Given the description of an element on the screen output the (x, y) to click on. 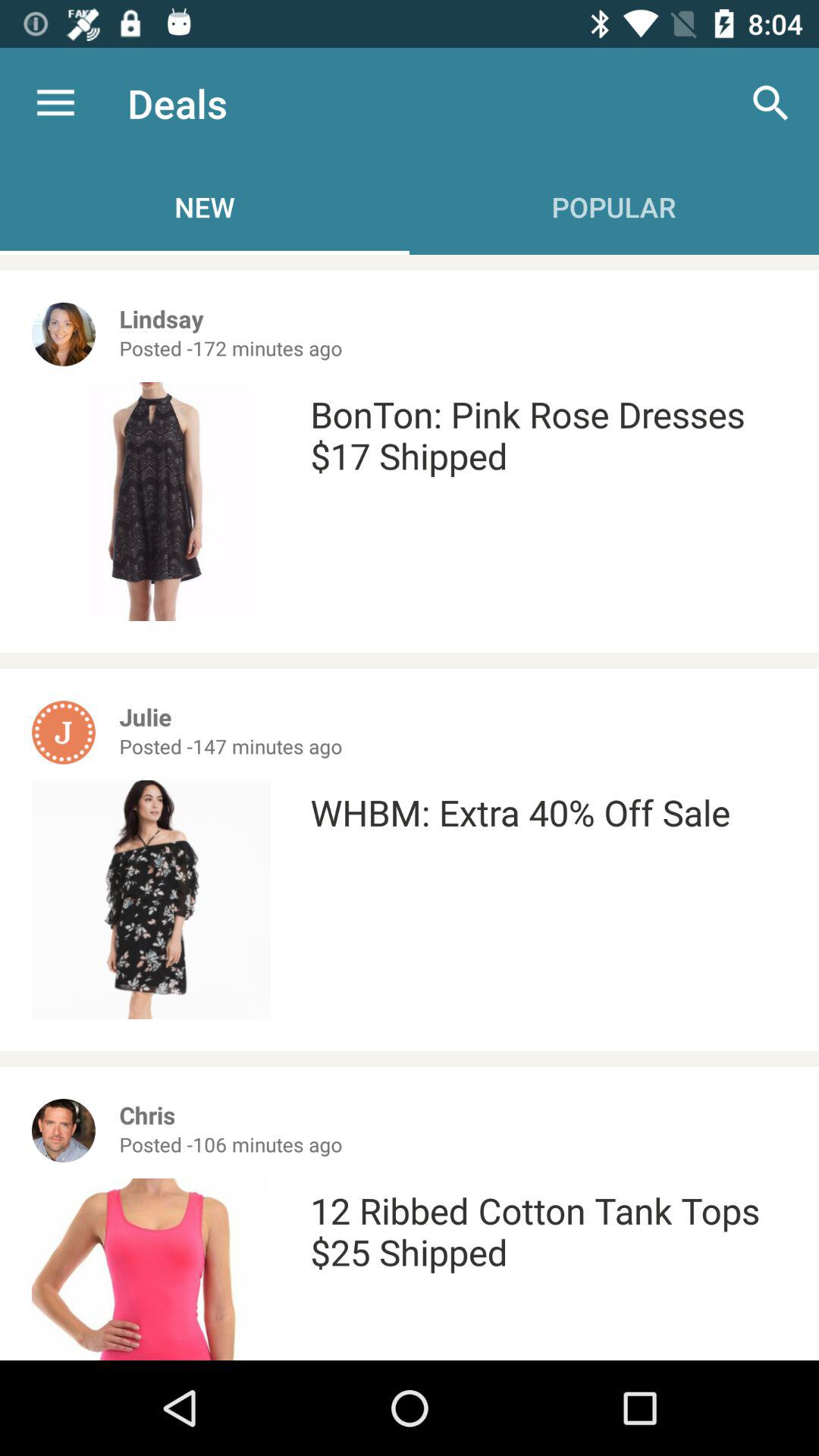
click on popular (614, 206)
select the 1st image (63, 334)
select the second picture (151, 899)
select the icon j in orange color (63, 732)
tap the image which is below chris in the third row (151, 1268)
click on the image which is just beside the text lindsay (63, 334)
